Given the description of an element on the screen output the (x, y) to click on. 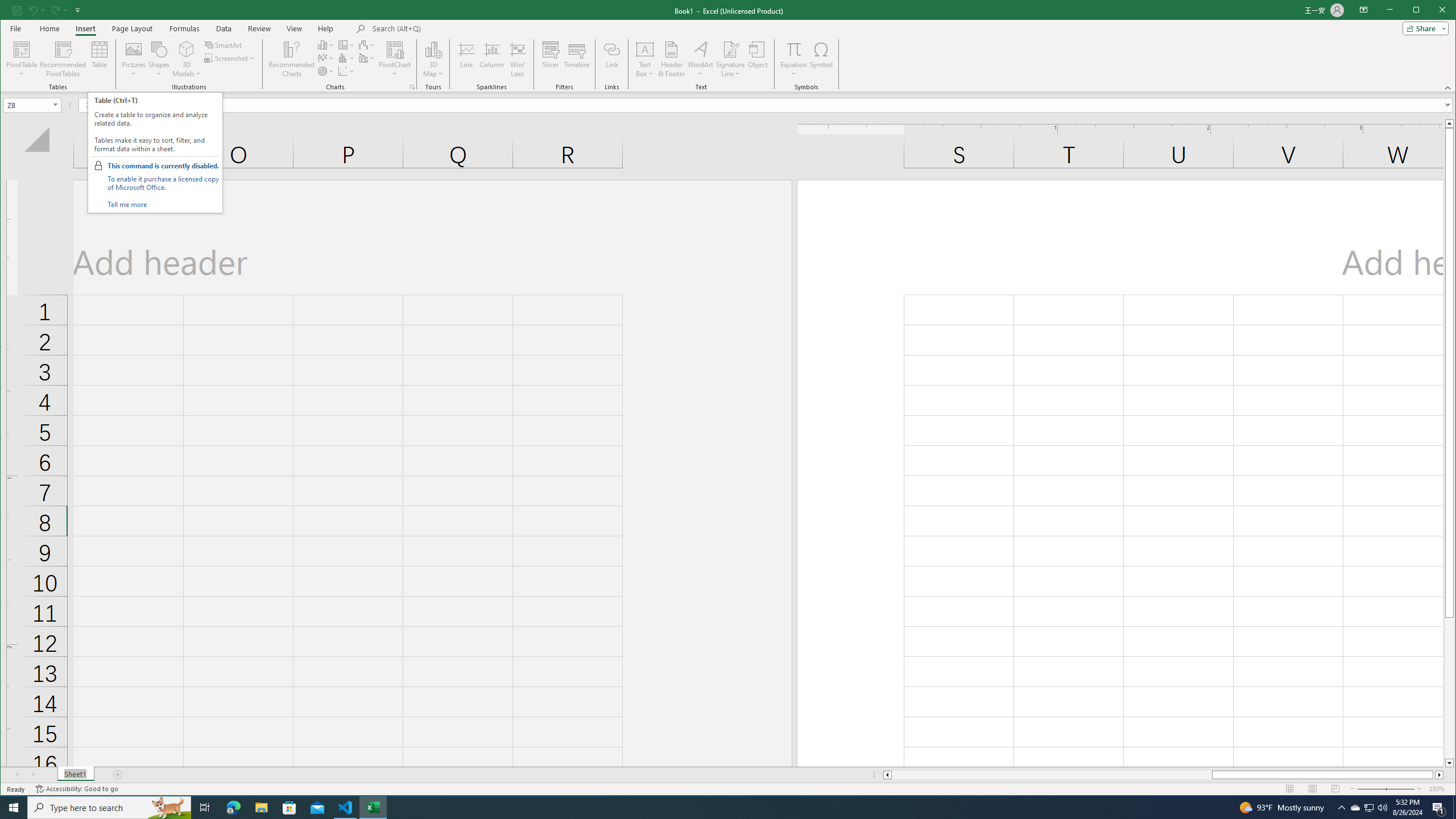
Column (492, 59)
Insert Column or Bar Chart (325, 44)
Text Box (644, 59)
Draw Horizontal Text Box (644, 48)
Action Center, 1 new notification (1439, 807)
PivotTable (22, 48)
Slicer... (1368, 807)
User Promoted Notification Area (550, 59)
Page left (1368, 807)
